Given the description of an element on the screen output the (x, y) to click on. 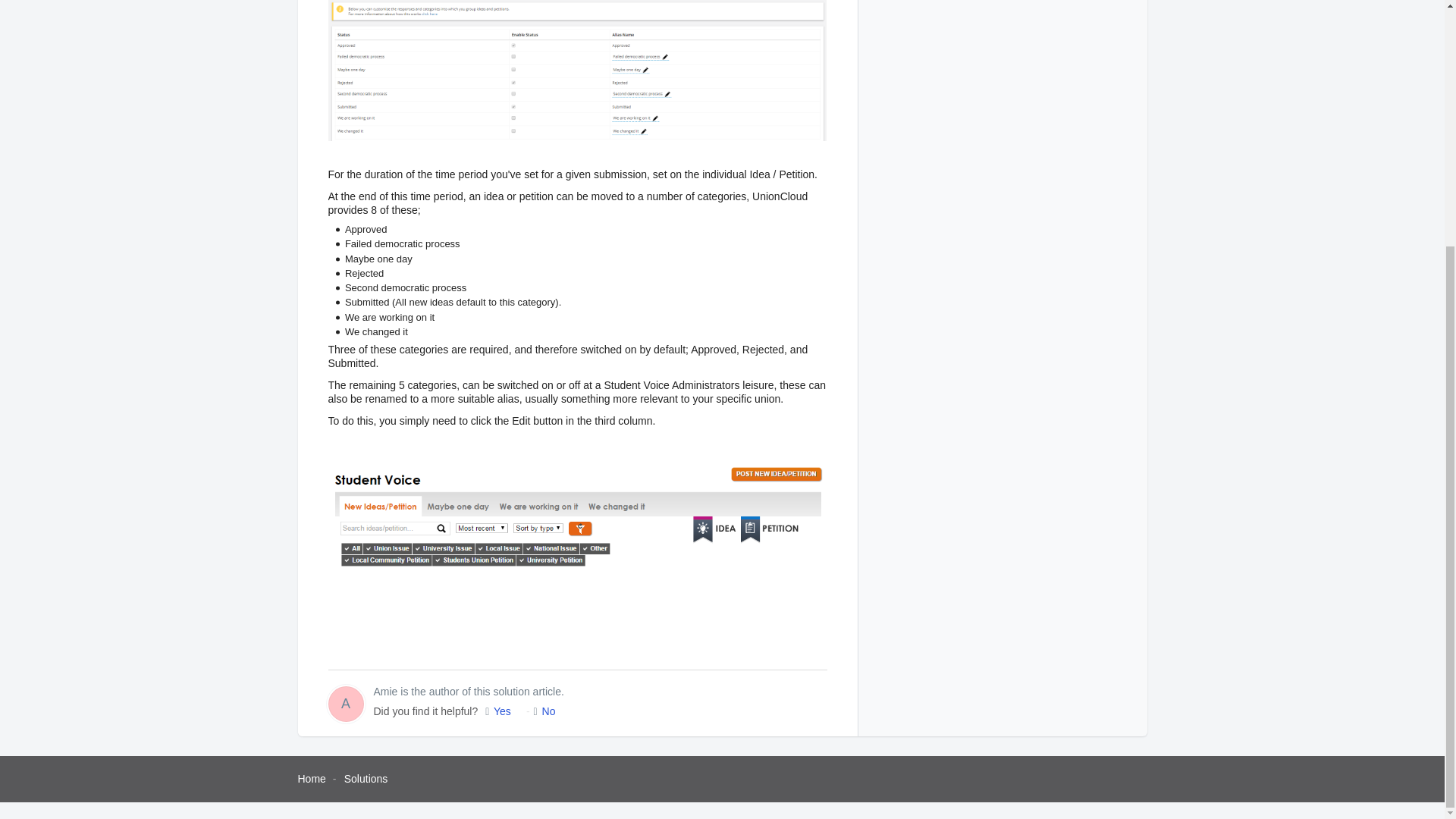
Solutions (365, 778)
Home (310, 778)
